Given the description of an element on the screen output the (x, y) to click on. 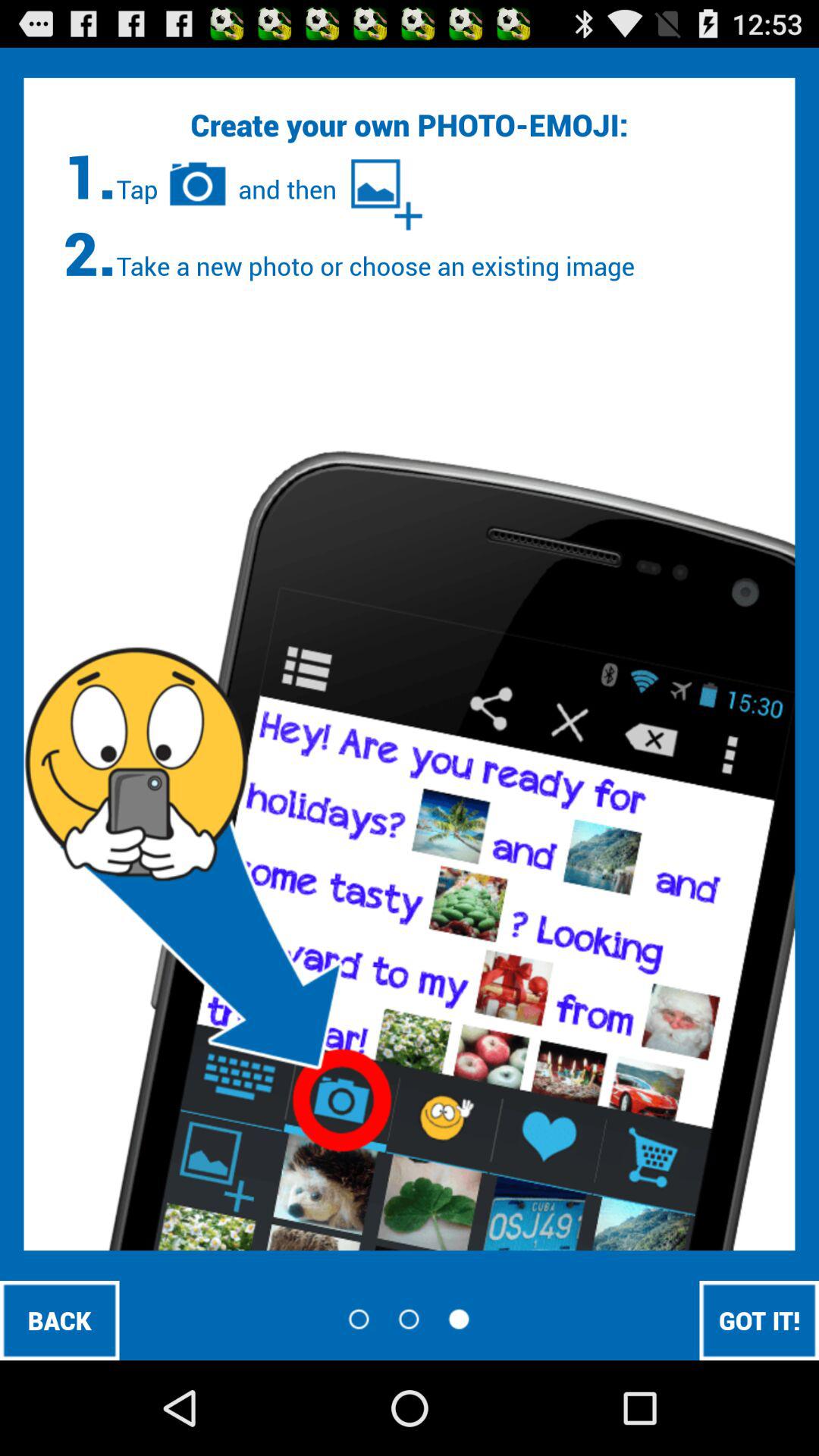
choose the got it! (759, 1320)
